Given the description of an element on the screen output the (x, y) to click on. 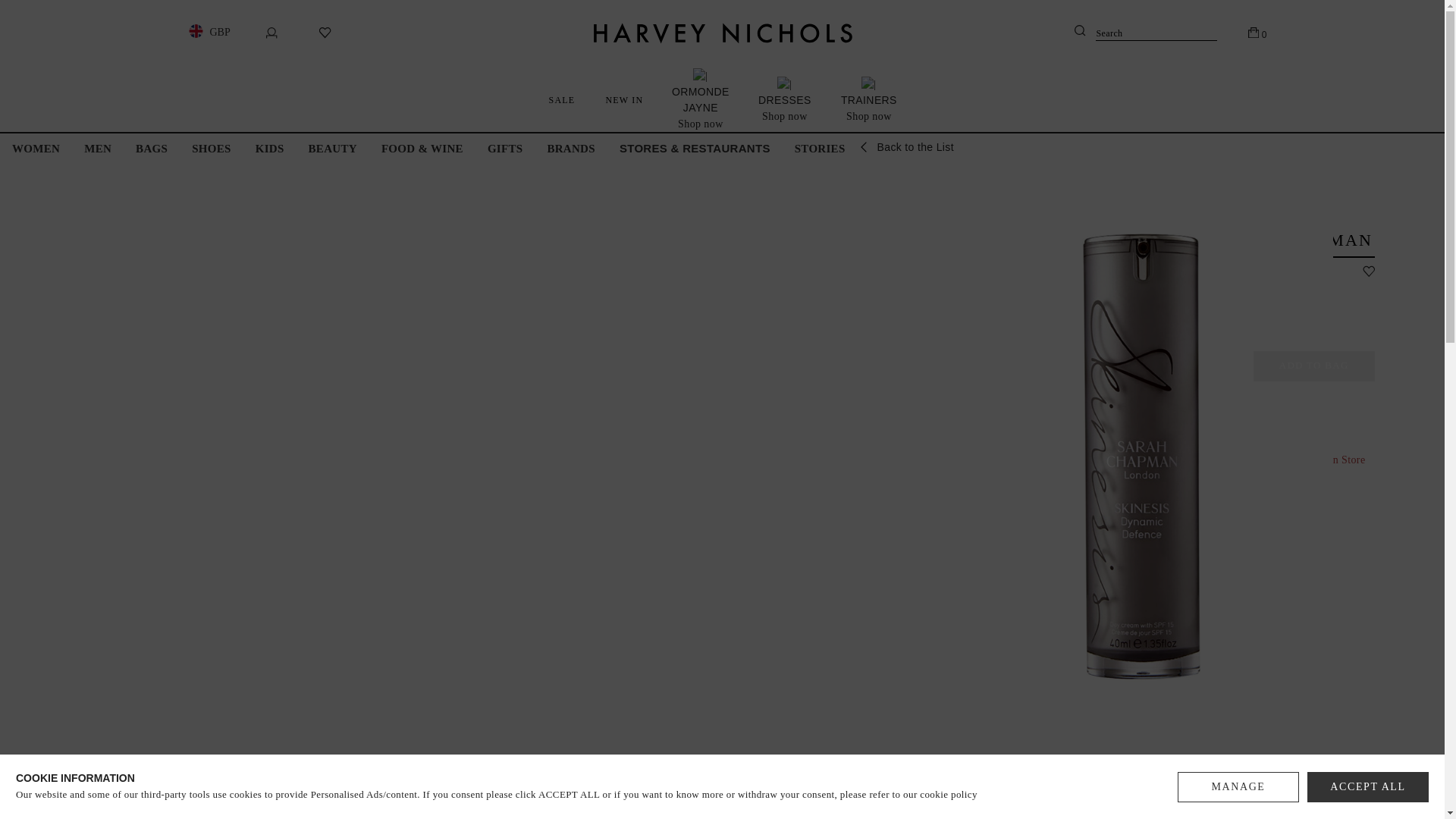
Add to Bag (1313, 366)
Search (1145, 32)
SALE (562, 99)
0 (1257, 32)
GBP (206, 32)
